Given the description of an element on the screen output the (x, y) to click on. 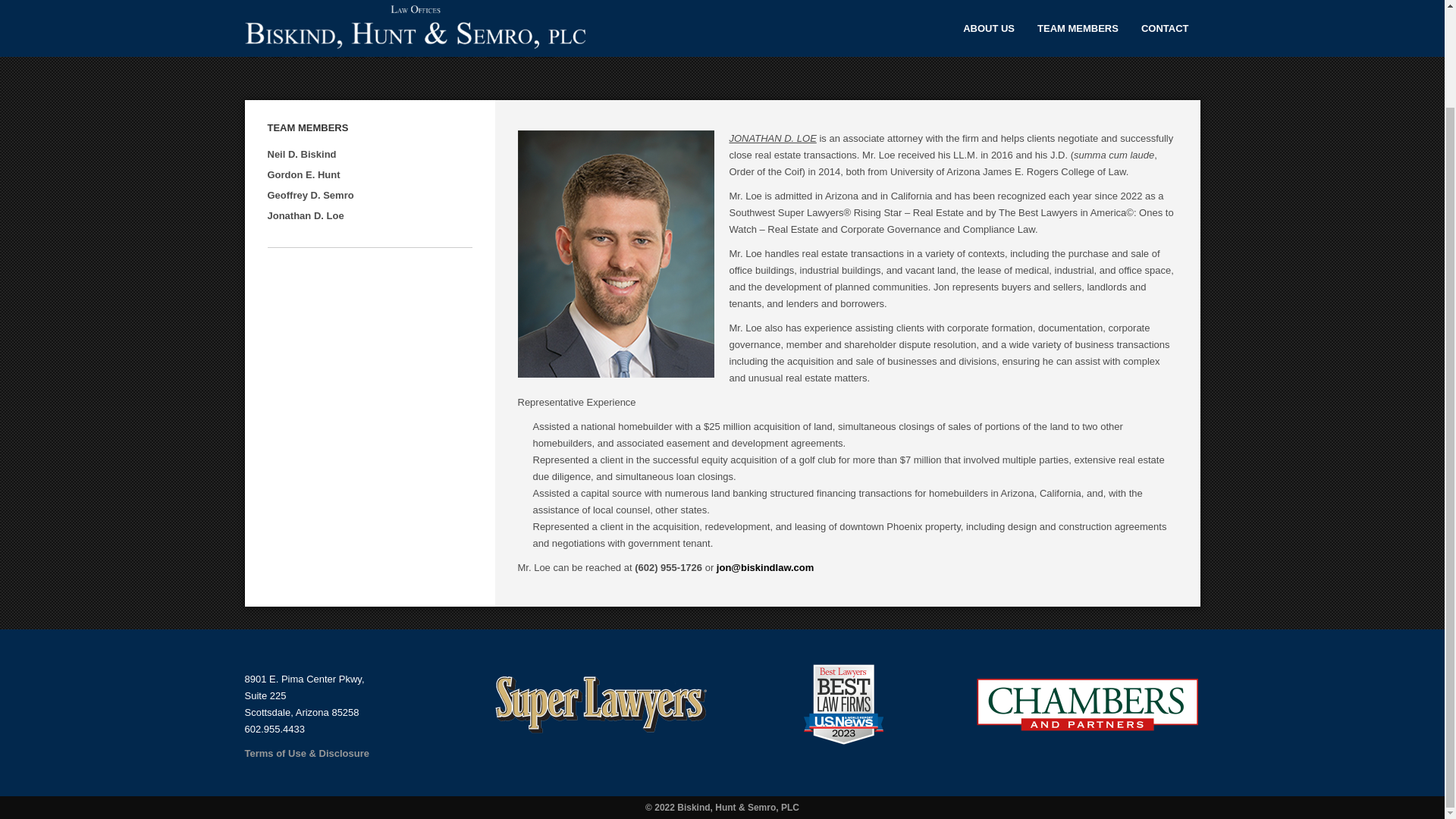
Jonathan D. Loe (304, 228)
Geoffrey D. Semro (309, 209)
Neil D. Biskind (301, 169)
Gordon E. Hunt (302, 188)
